Given the description of an element on the screen output the (x, y) to click on. 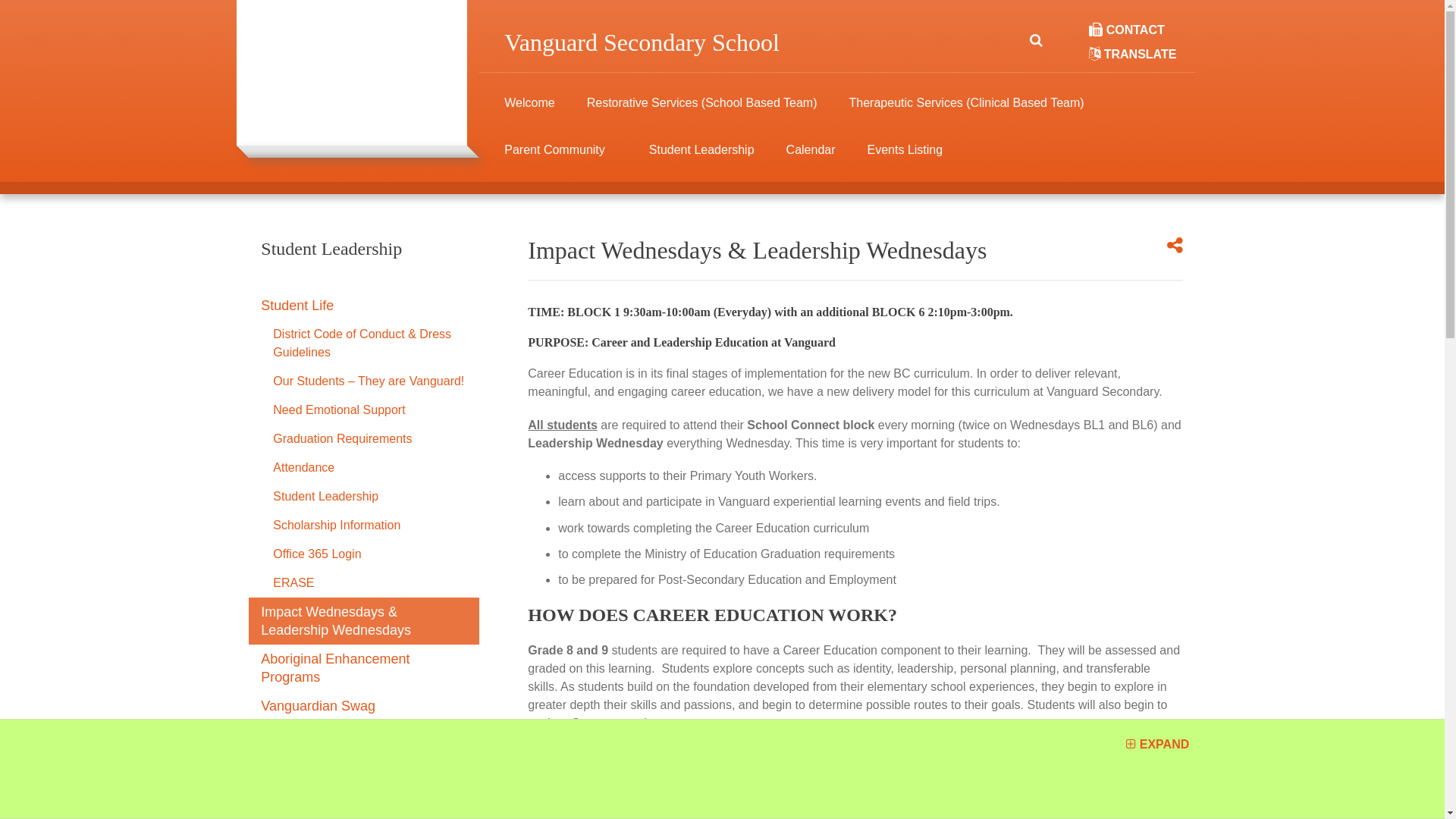
Student Leadership Element type: text (363, 265)
ERASE Element type: text (363, 582)
Parent Community Element type: text (554, 158)
Student Leadership Element type: text (363, 496)
Welcome Element type: text (529, 110)
Vanguardian Swag Element type: text (363, 705)
Student Leadership Element type: text (701, 158)
Graduation Requirements Element type: text (363, 438)
District Code of Conduct & Dress Guidelines Element type: text (363, 343)
 CONTACT Element type: text (1126, 29)
SD35, Langley School District Element type: hover (351, 767)
Office 365 Login Element type: text (363, 553)
Events Listing Element type: text (905, 158)
Need Emotional Support Element type: text (363, 409)
Student Life Element type: text (363, 305)
Therapeutic Services (Clinical Based Team) Element type: text (966, 110)
Calendar Element type: text (810, 158)
 TRANSLATE Element type: text (1132, 53)
Attendance Element type: text (363, 467)
Restorative Services (School Based Team) Element type: text (702, 110)
Scholarship Information Element type: text (363, 525)
 EXPAND Element type: text (1157, 744)
Impact Wednesdays & Leadership Wednesdays Element type: text (363, 620)
Aboriginal Enhancement Programs Element type: text (363, 667)
